Given the description of an element on the screen output the (x, y) to click on. 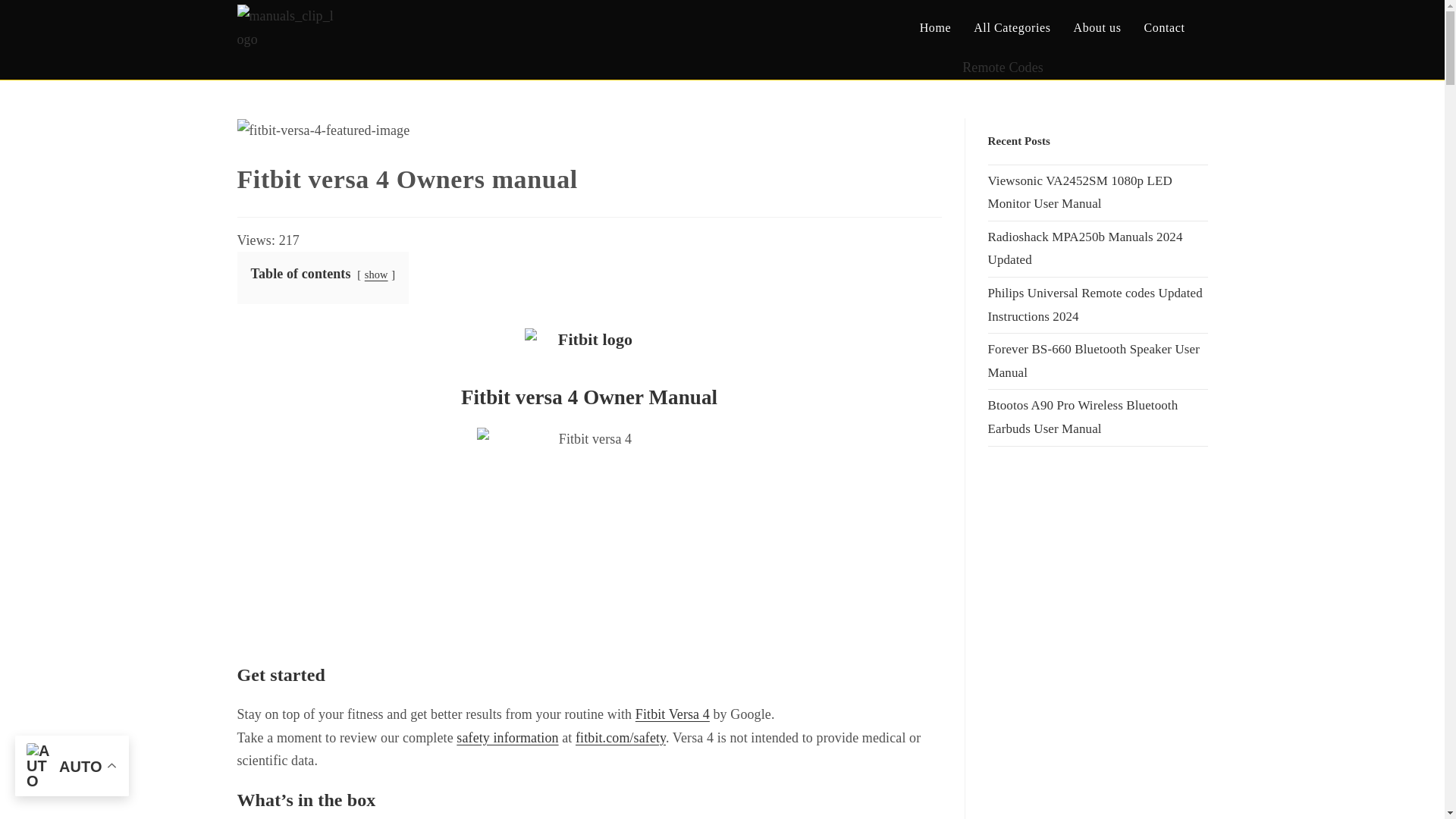
safety information (507, 737)
show (376, 274)
All Categories (1011, 28)
Remote Codes (1011, 67)
Home (935, 28)
About us (1096, 28)
Contact (1164, 28)
Fitbit Versa 4 (672, 713)
